Given the description of an element on the screen output the (x, y) to click on. 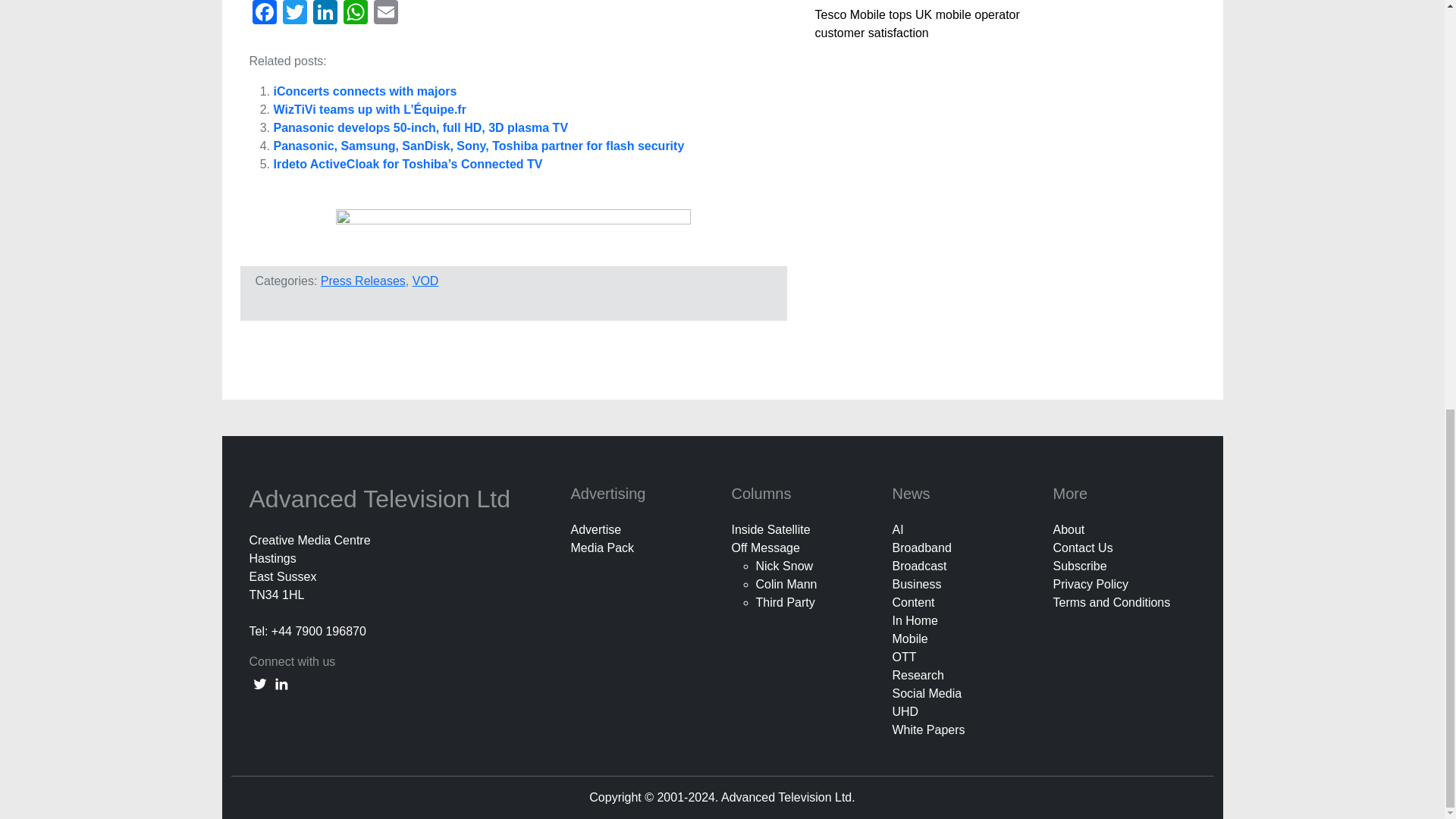
Advanced Television Ltd  (382, 498)
Email (384, 13)
iConcerts connects with majors (365, 91)
VOD (425, 280)
WhatsApp (354, 13)
WhatsApp (354, 13)
Email (384, 13)
Twitter (293, 13)
Facebook (263, 13)
iConcerts connects with majors (365, 91)
LinkedIn (323, 13)
Press Releases (363, 280)
Twitter (293, 13)
